Given the description of an element on the screen output the (x, y) to click on. 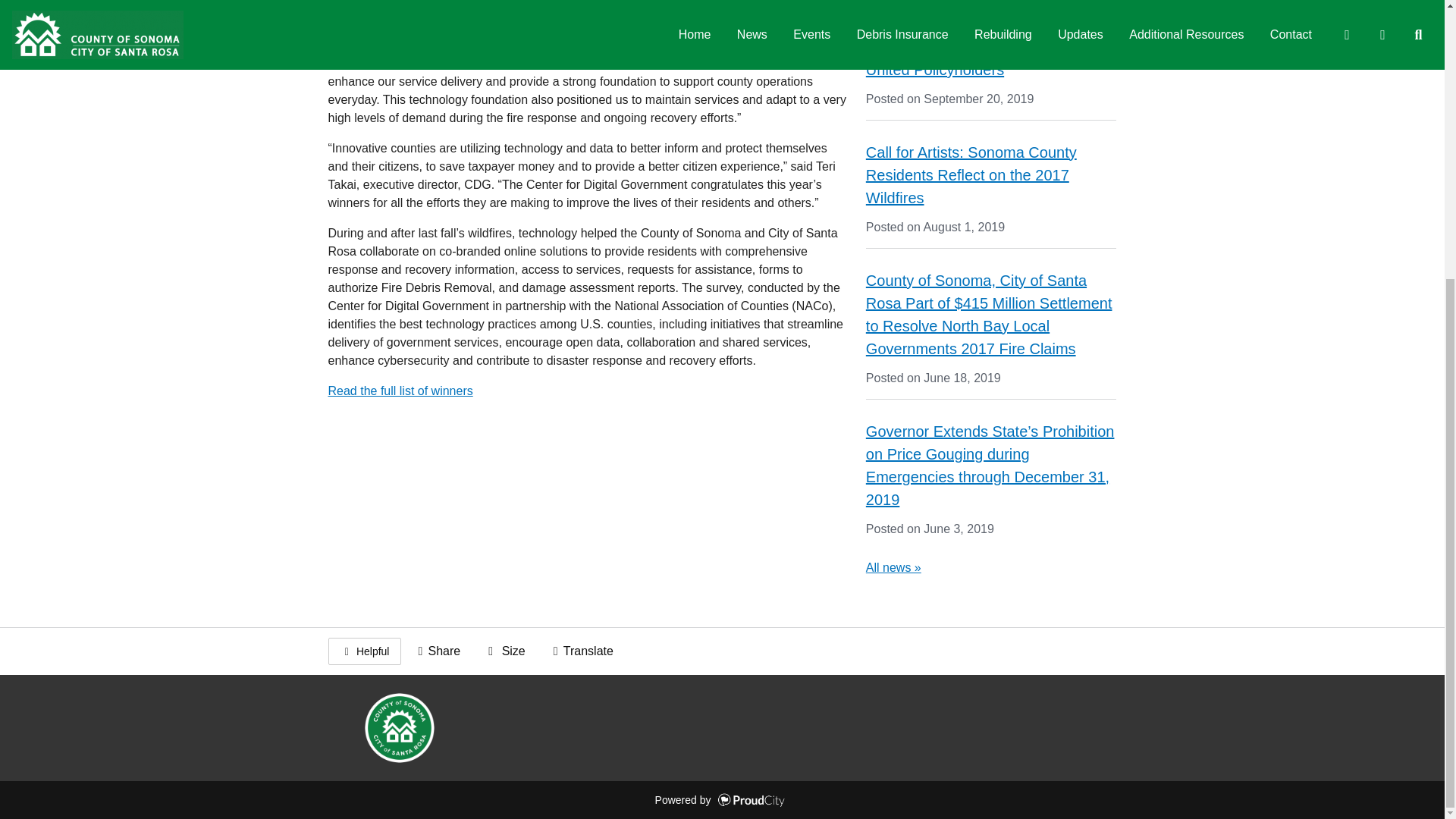
Size (504, 651)
See the full list of winners (399, 390)
Important Insurance Information from United Policyholders (990, 57)
Read the full list of winners (399, 390)
Share (436, 651)
Translate (580, 651)
Helpful (364, 651)
This page makes me proud (364, 651)
